Given the description of an element on the screen output the (x, y) to click on. 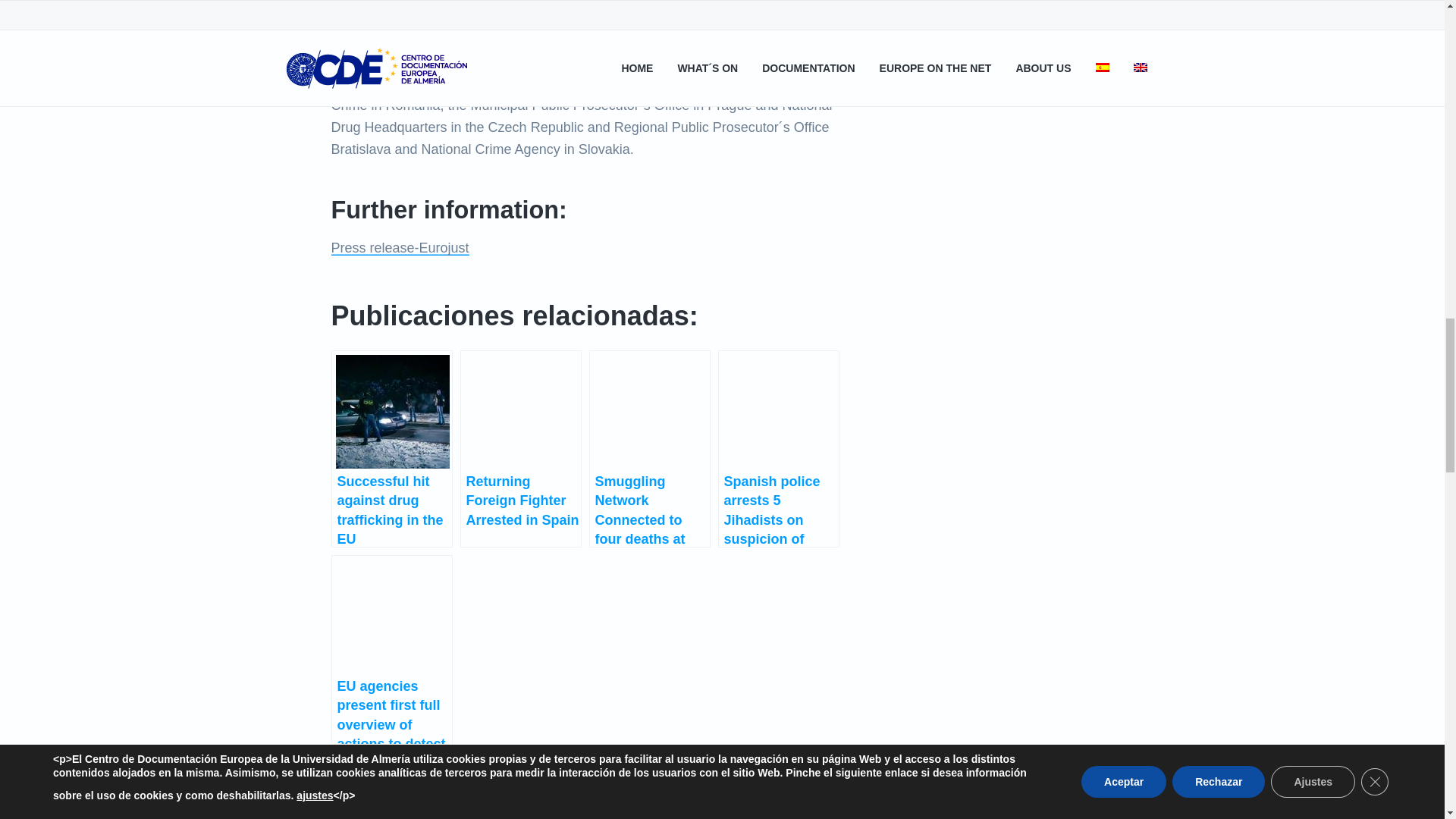
Returning Foreign Fighter Arrested in Spain (520, 448)
Successful hit against drug trafficking in the EU (390, 448)
